Given the description of an element on the screen output the (x, y) to click on. 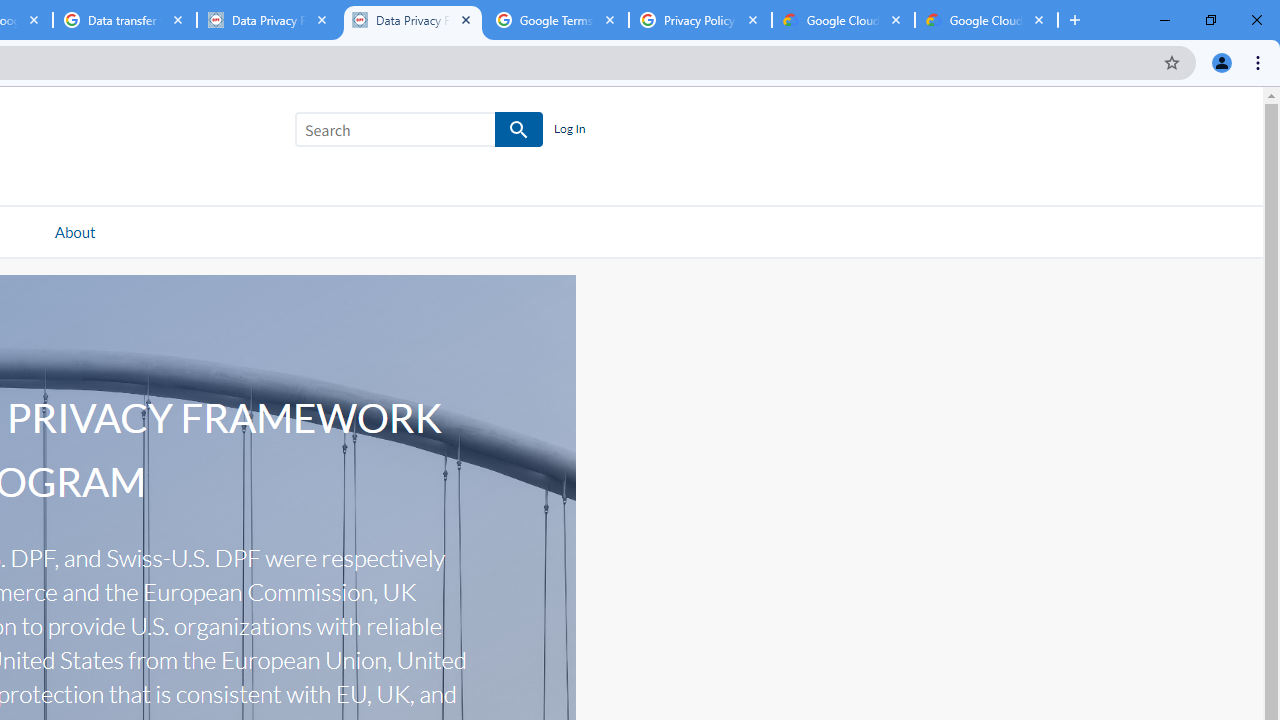
Google Cloud Privacy Notice (986, 20)
About (74, 231)
